Given the description of an element on the screen output the (x, y) to click on. 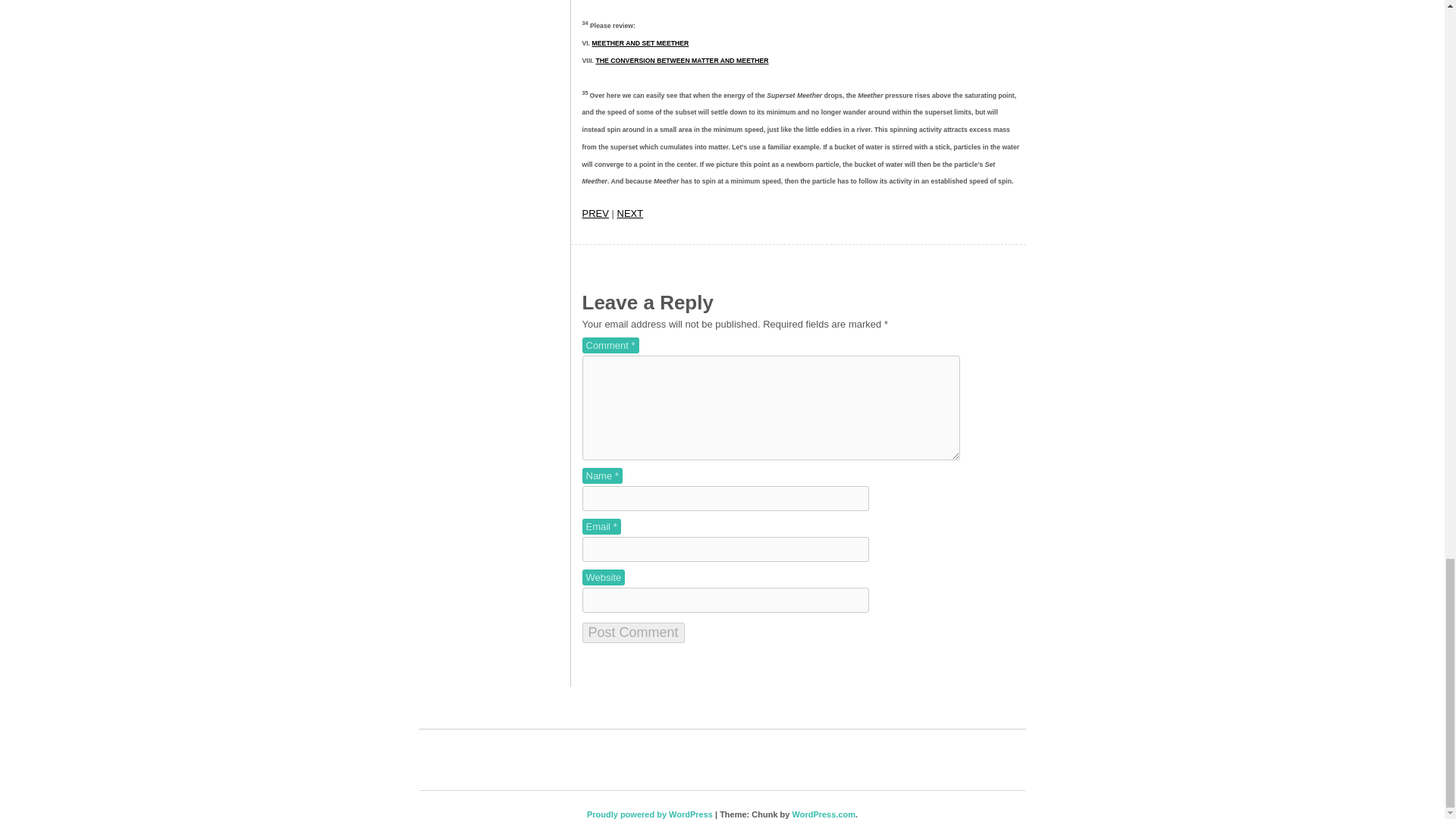
Post Comment (633, 632)
VI. MEETHER AND SET MEETHER (640, 42)
VIII. THE CONVERSION BETWEEN MATTER AND MEETHER (681, 60)
The Logic Behind Weirdness and the Unknown (595, 213)
